Given the description of an element on the screen output the (x, y) to click on. 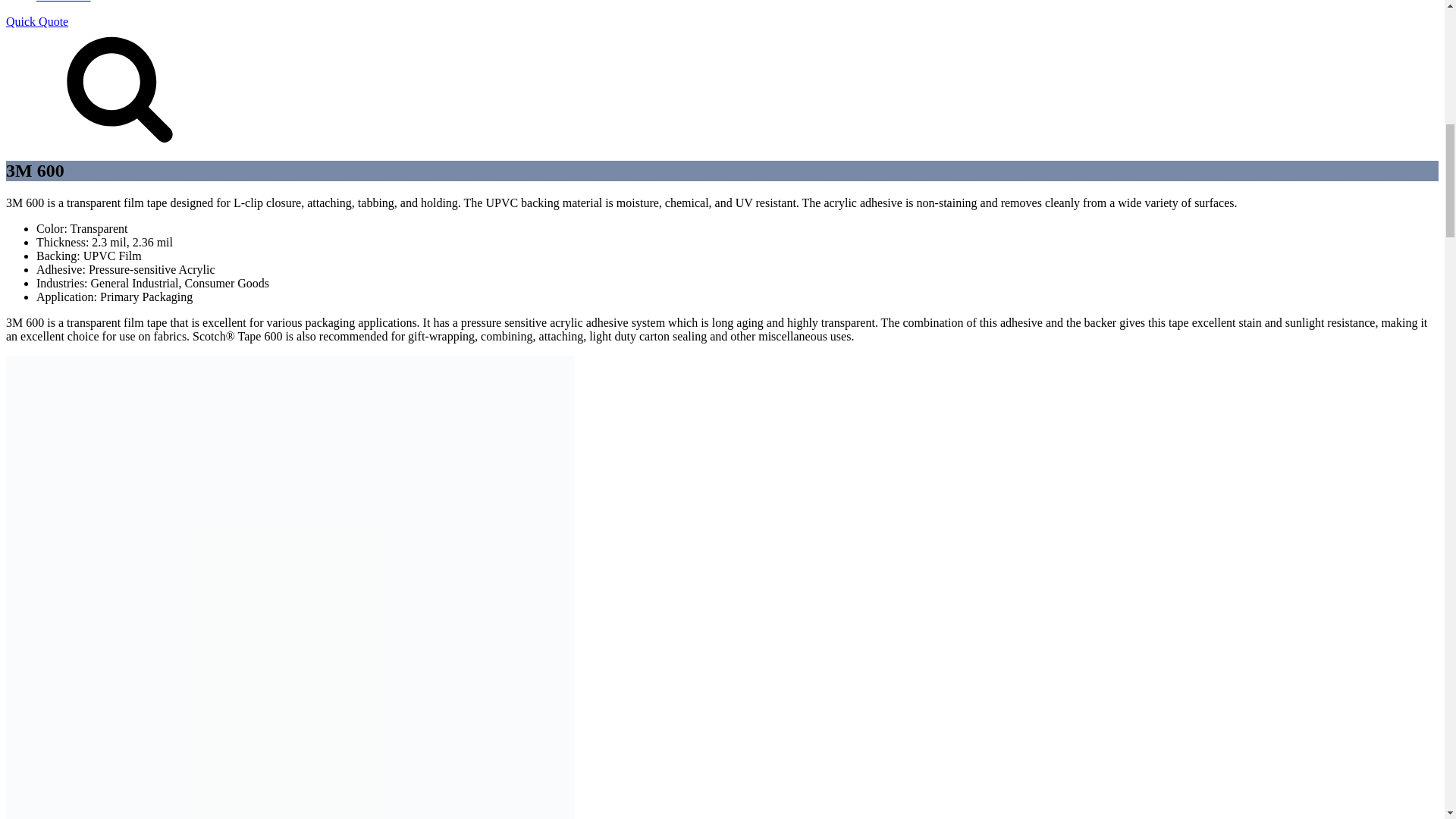
Quick Quote (36, 21)
Contact Us (63, 1)
